Given the description of an element on the screen output the (x, y) to click on. 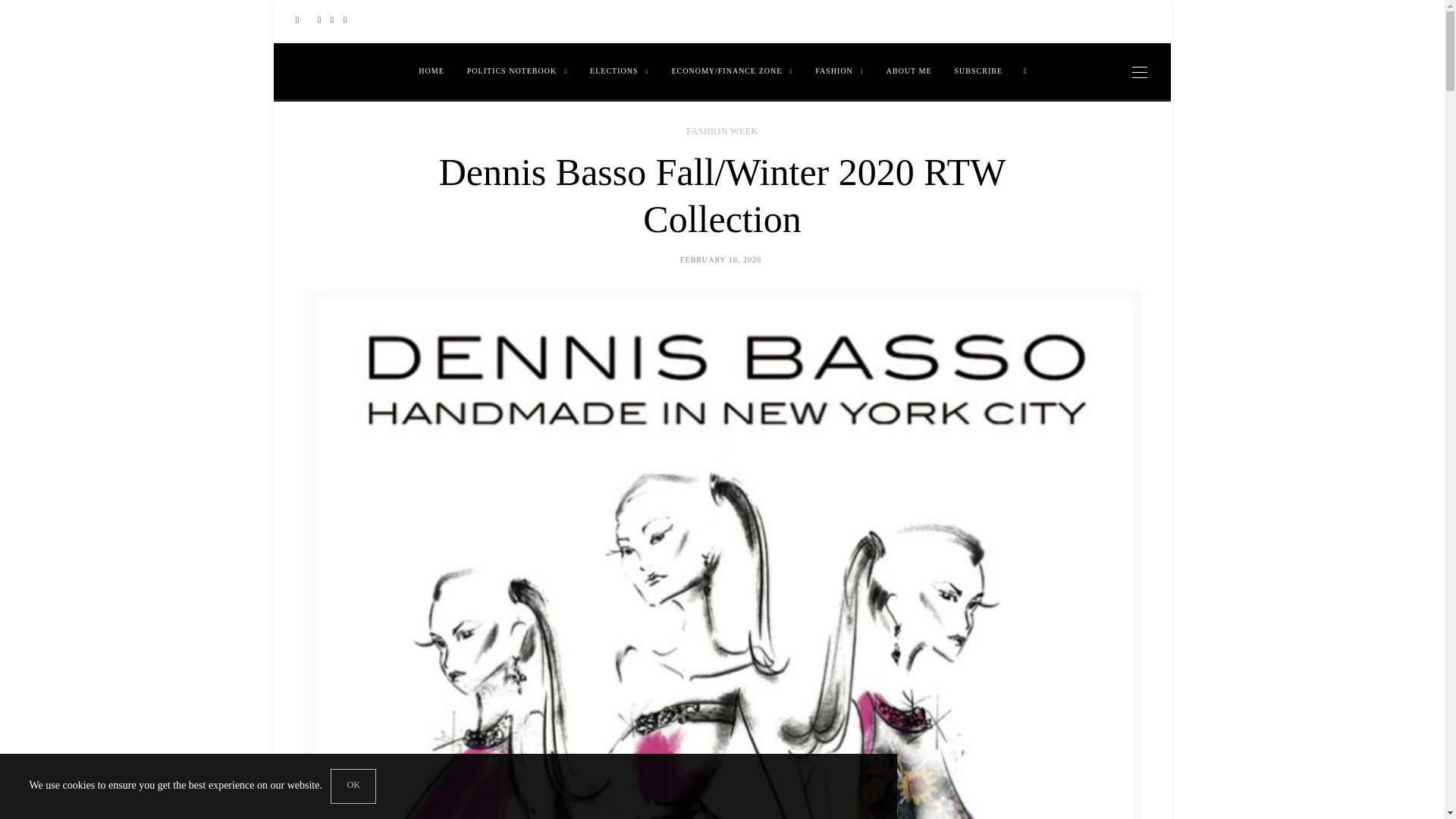
POLITICS NOTEBOOK (516, 71)
